Given the description of an element on the screen output the (x, y) to click on. 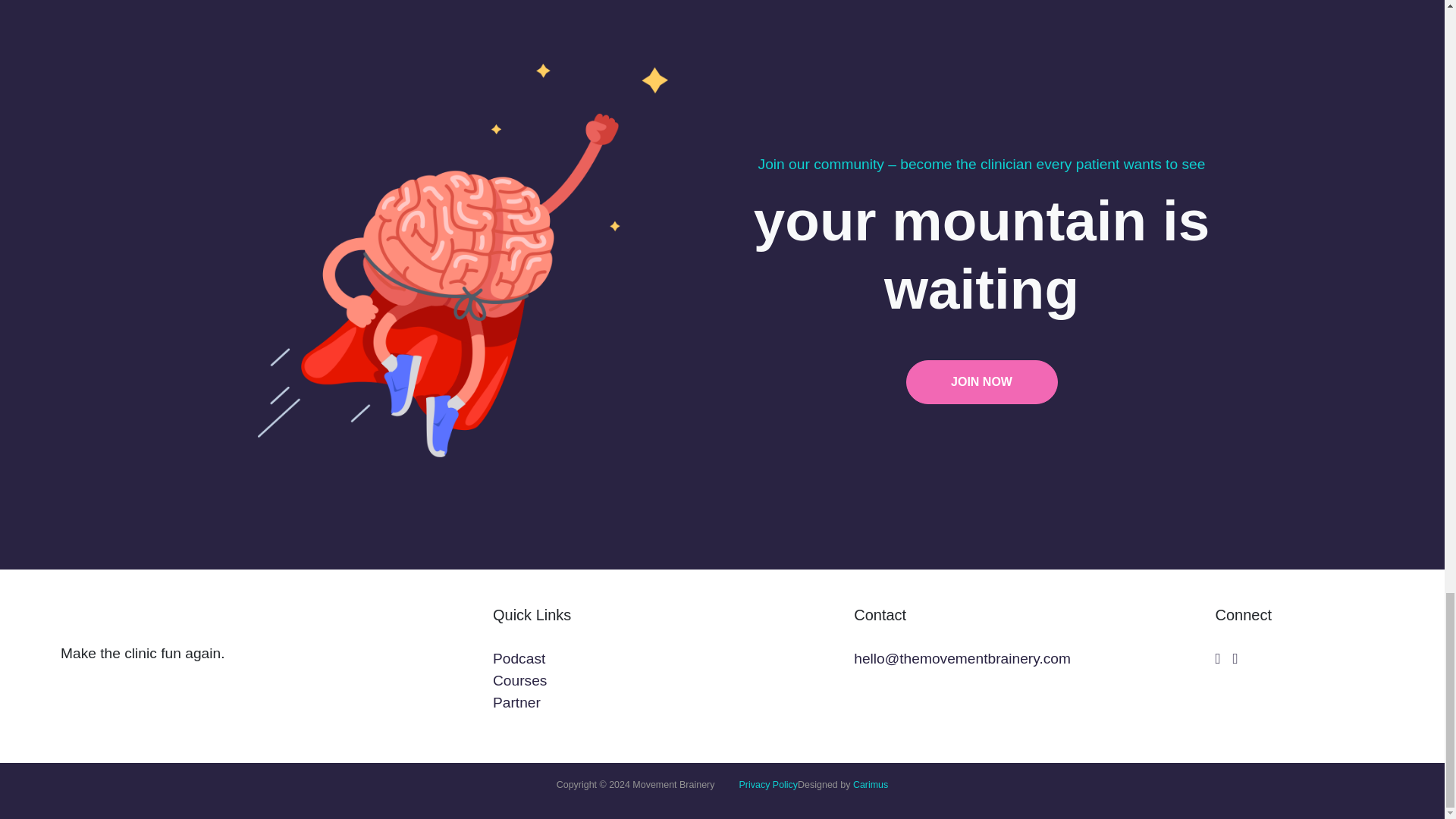
Courses (520, 680)
JOIN NOW (981, 382)
Join Now (981, 382)
Carimus Website (870, 784)
Email (961, 658)
Privacy Policy (767, 791)
Partner (516, 702)
Privacy Page (767, 791)
Carimus (870, 784)
Podcast (518, 658)
